Given the description of an element on the screen output the (x, y) to click on. 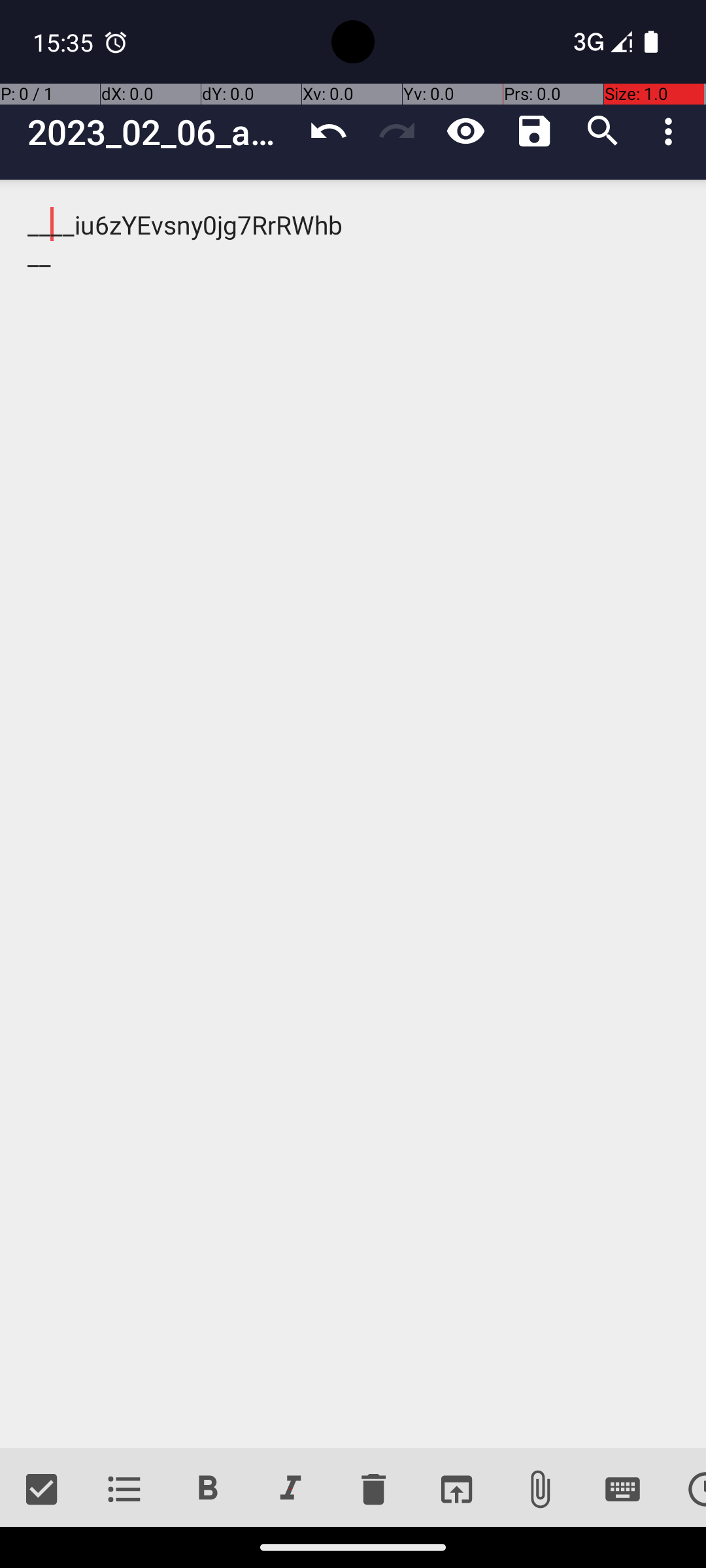
2023_02_06_april_workout_routine Element type: android.widget.TextView (160, 131)
____iu6zYEvsny0jg7RrRWhb
__ Element type: android.widget.EditText (353, 813)
